Given the description of an element on the screen output the (x, y) to click on. 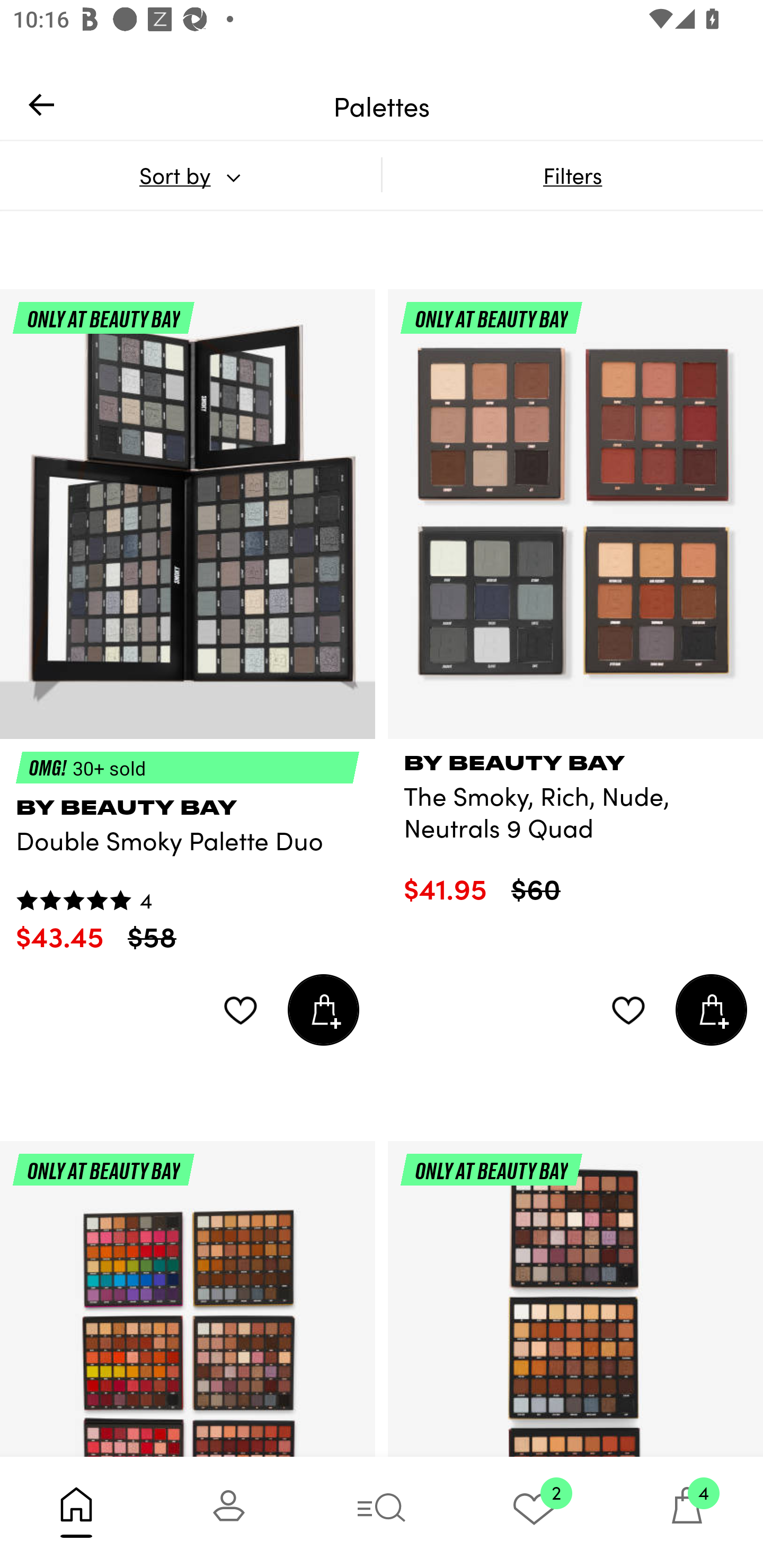
Sort by (190, 174)
Filters (572, 174)
2 (533, 1512)
4 (686, 1512)
